Given the description of an element on the screen output the (x, y) to click on. 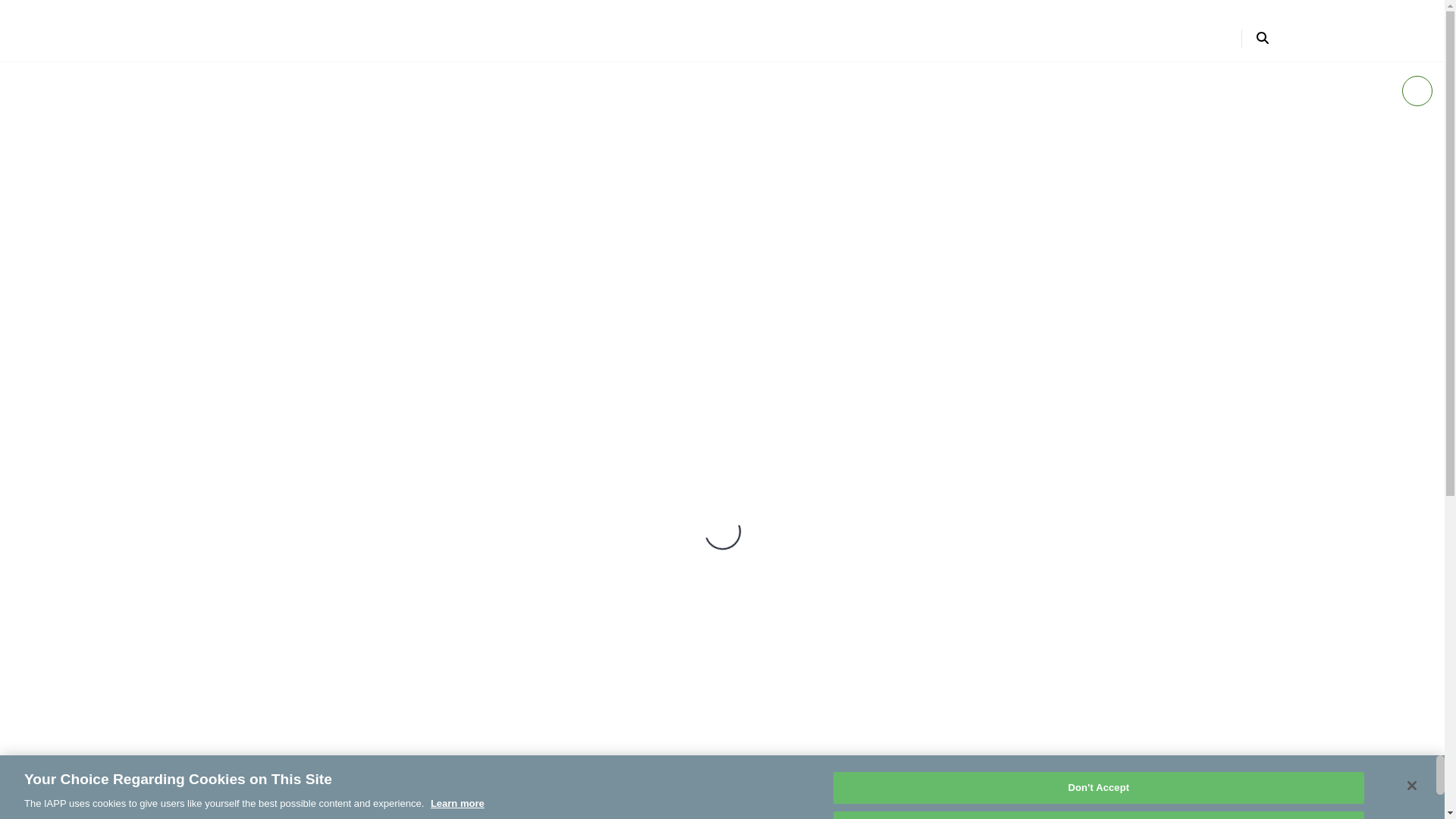
Don't Accept (1098, 787)
Manage Cookies (1098, 749)
Skip to Content (19, 13)
Learn more (457, 803)
Accept (1098, 815)
